Given the description of an element on the screen output the (x, y) to click on. 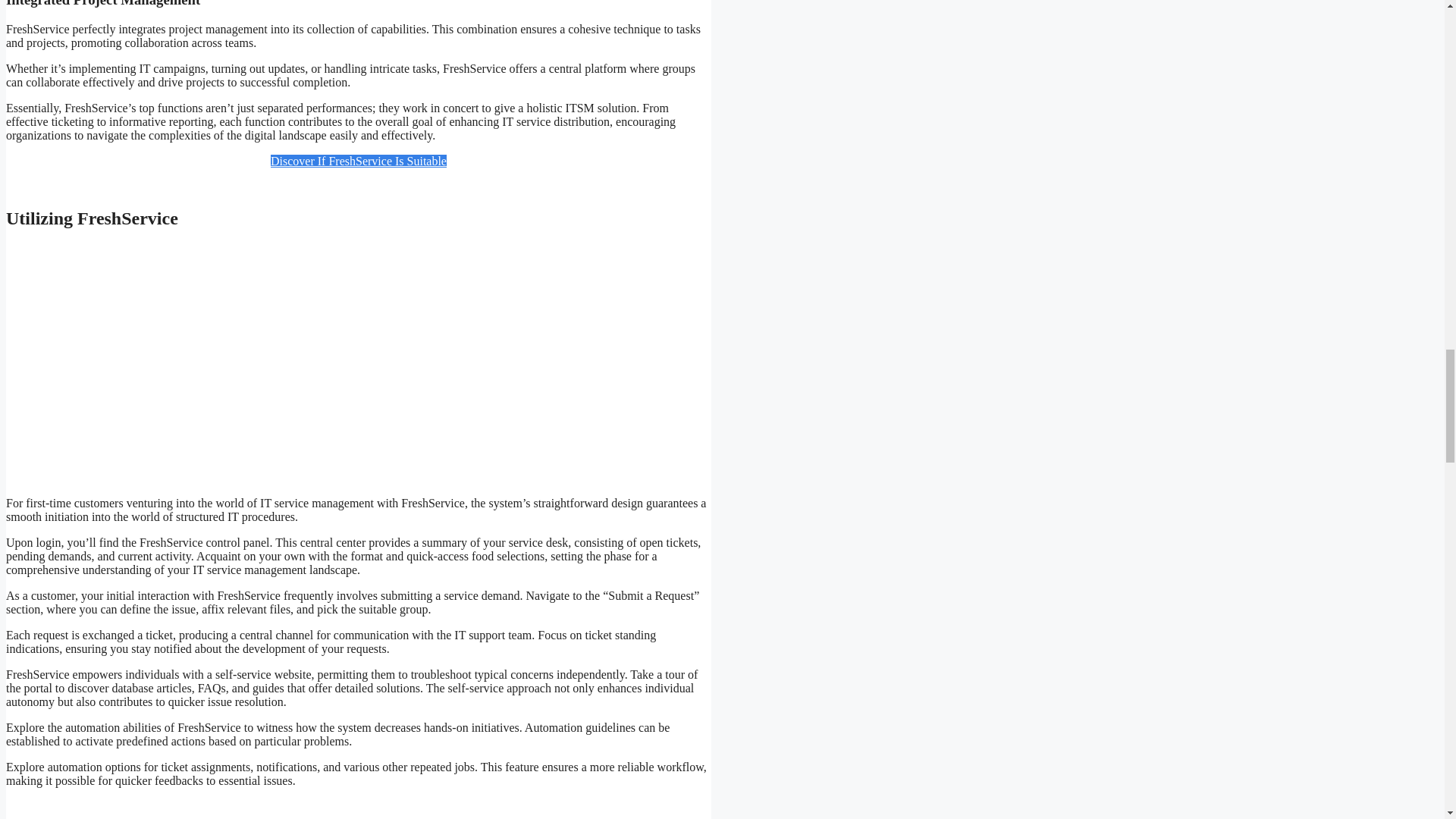
Discover If FreshService Is Suitable (358, 160)
